Given the description of an element on the screen output the (x, y) to click on. 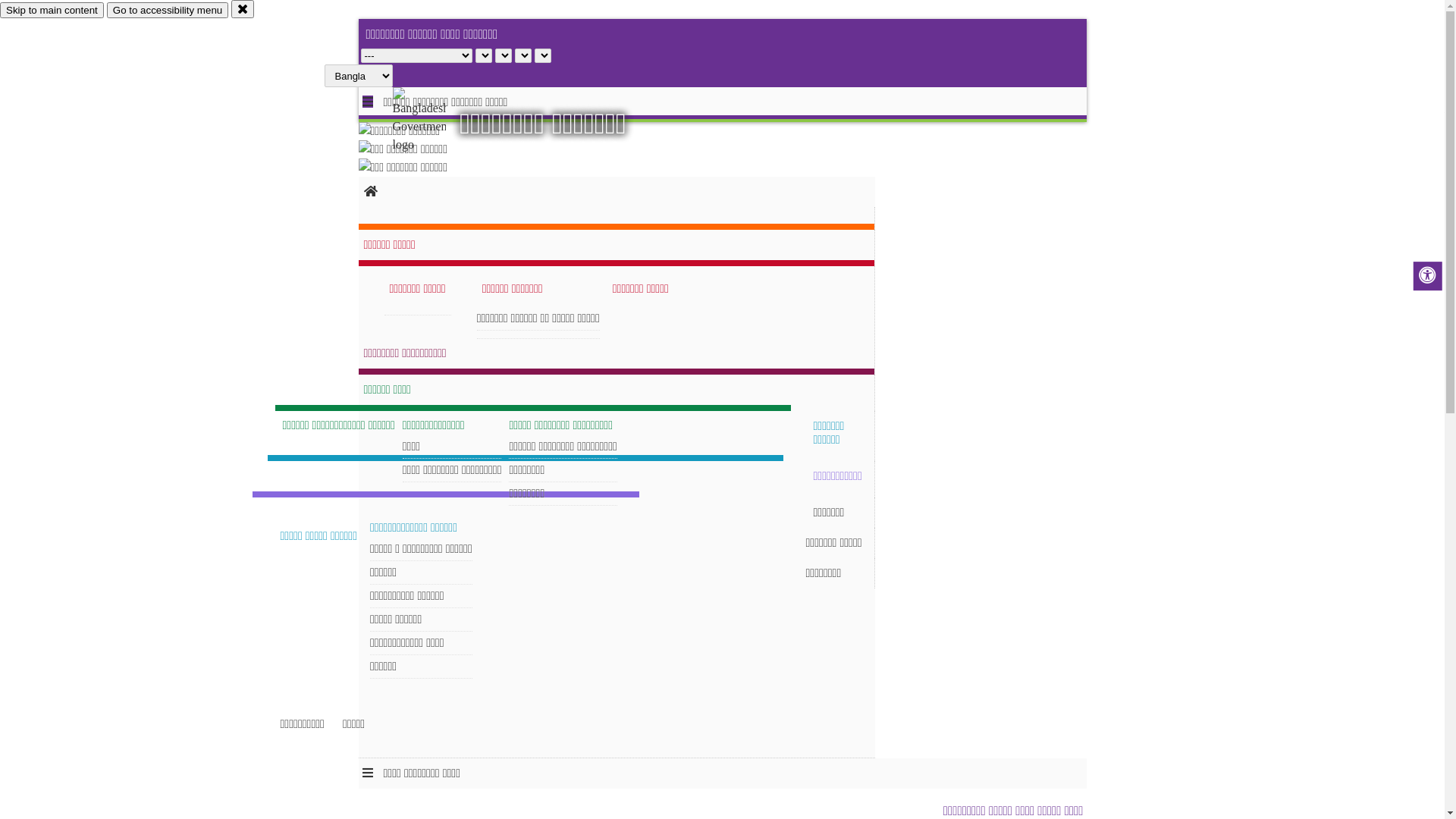
close Element type: hover (242, 9)
Go to accessibility menu Element type: text (167, 10)
Skip to main content Element type: text (51, 10)

                
             Element type: hover (431, 120)
